Given the description of an element on the screen output the (x, y) to click on. 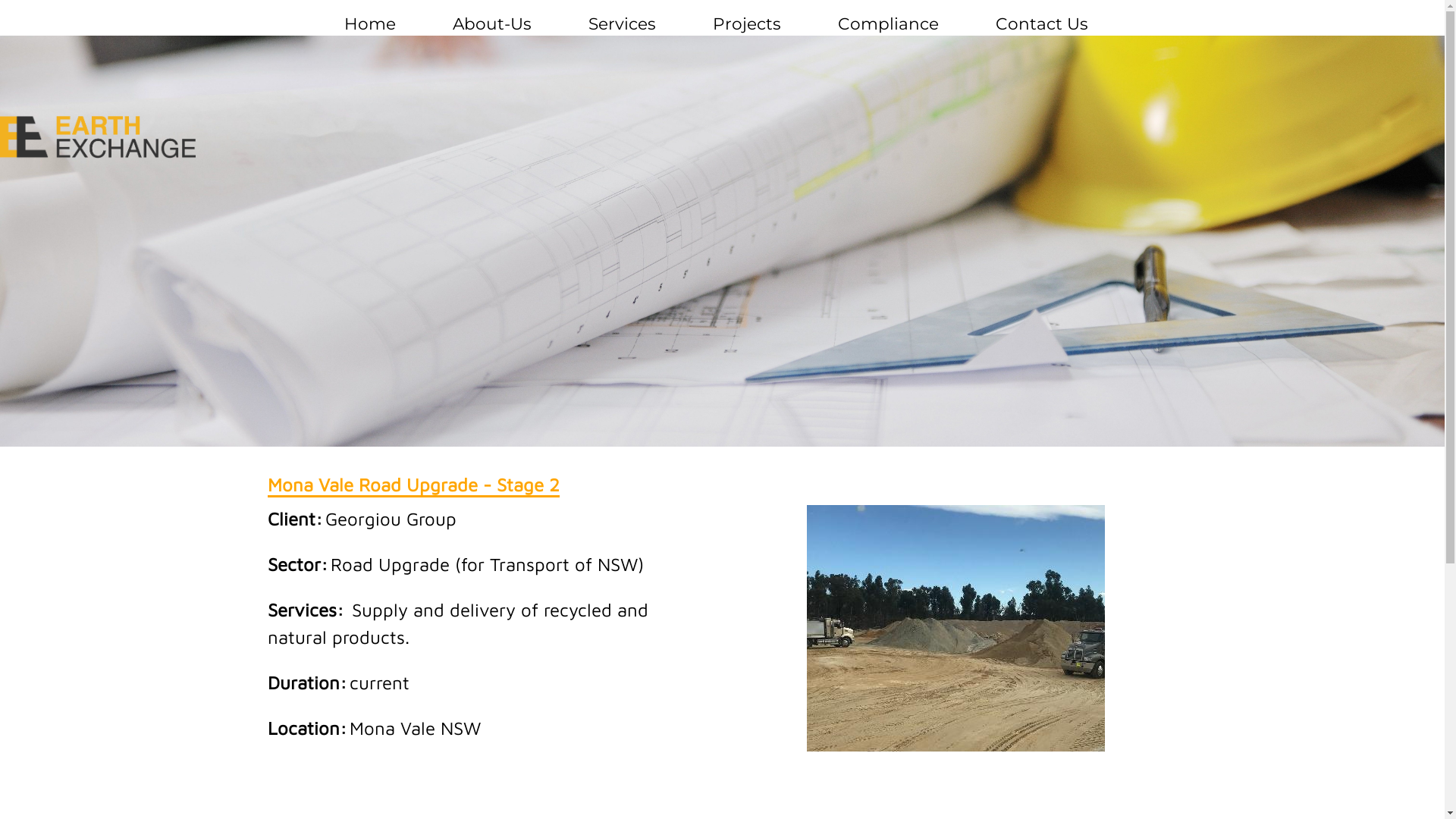
Home Element type: text (369, 23)
Services Element type: text (621, 23)
Projects Element type: text (746, 23)
About-Us Element type: text (491, 23)
Contact Us Element type: text (1041, 23)
Compliance Element type: text (887, 23)
